Given the description of an element on the screen output the (x, y) to click on. 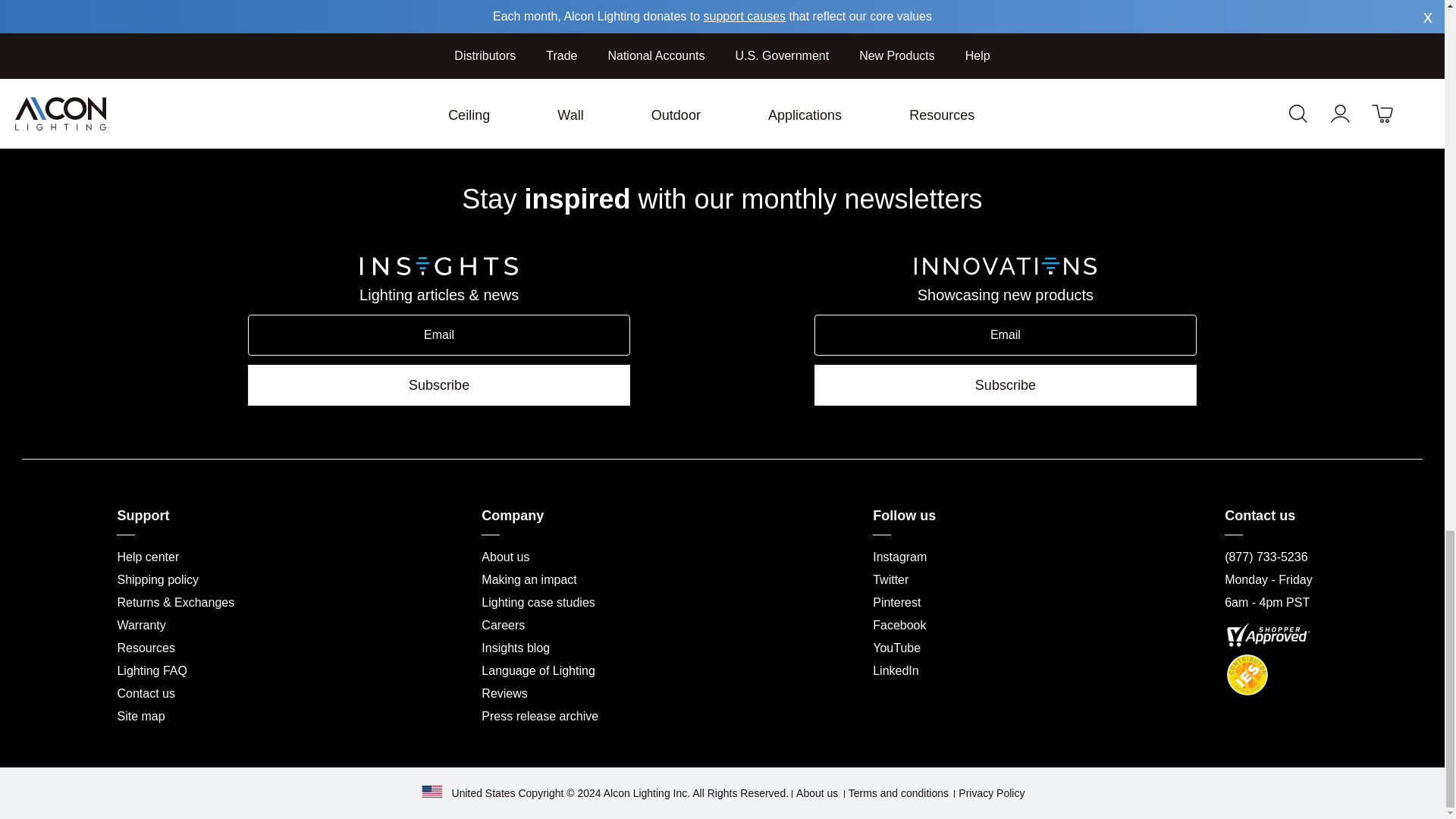
Subscribe (1004, 384)
Subscribe (438, 384)
